Given the description of an element on the screen output the (x, y) to click on. 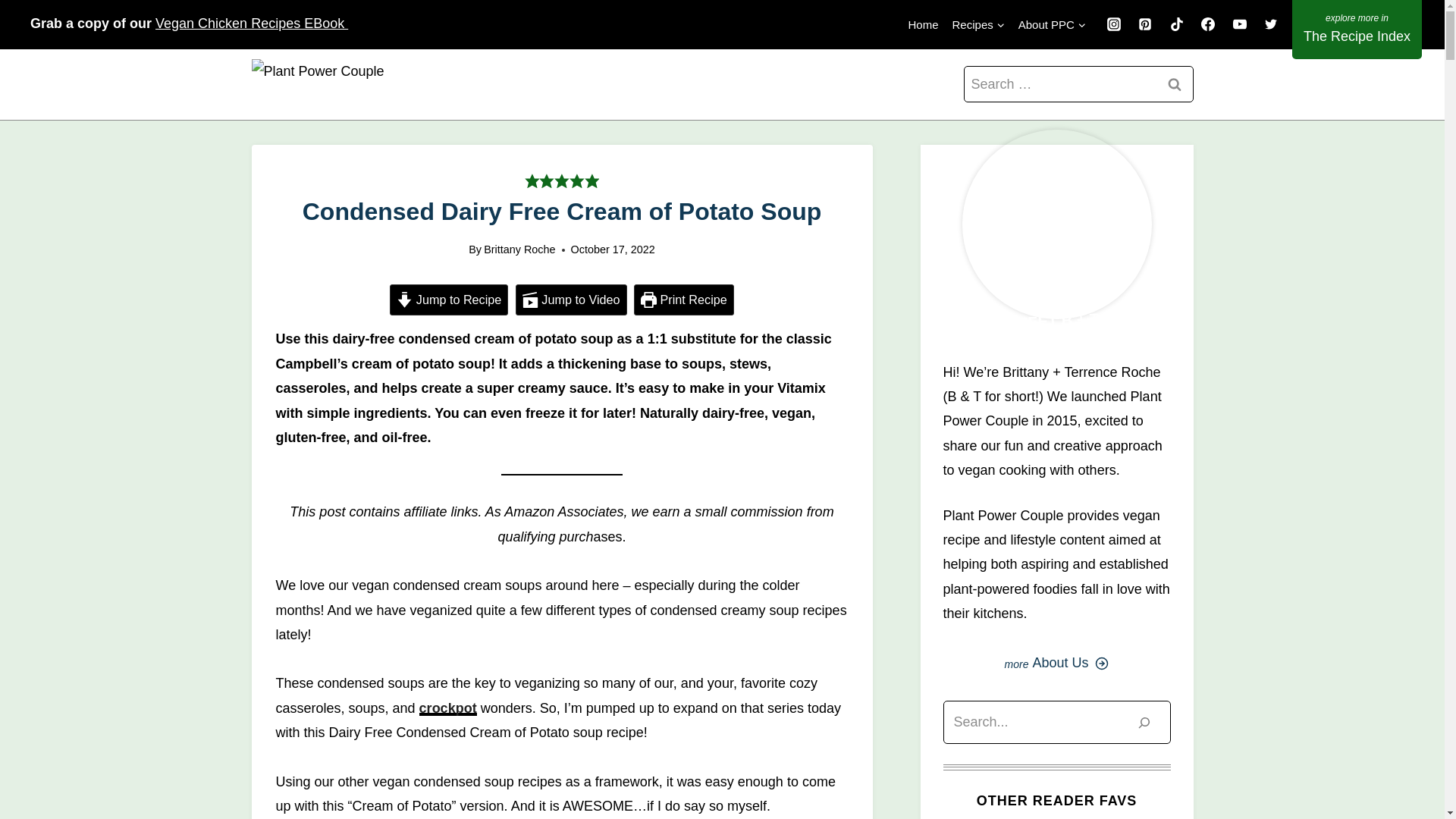
Search (1174, 84)
Brittany Roche (518, 249)
Recipes (977, 24)
Vegan Chicken Recipes EBook  (251, 23)
Home (922, 24)
The Recipe Index (1357, 29)
Search (1174, 84)
Search (1174, 84)
About PPC (1052, 24)
Jump to Video (571, 299)
